Given the description of an element on the screen output the (x, y) to click on. 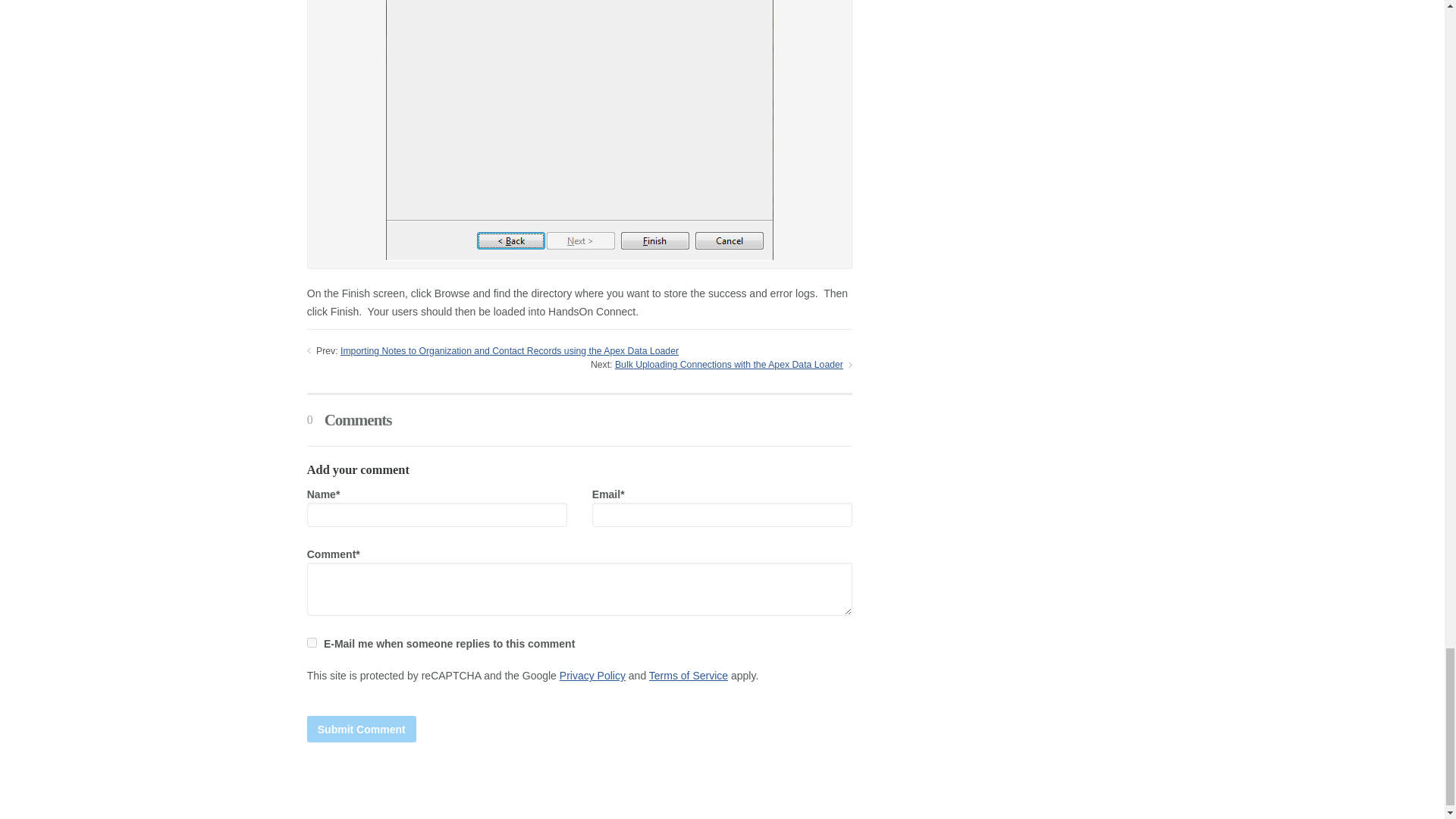
Submit Comment (361, 728)
Privacy Policy (592, 675)
Bulk Uploading Connections with the Apex Data Loader (728, 364)
Submit Comment (361, 728)
Terms of Service (688, 675)
1 (312, 642)
